Given the description of an element on the screen output the (x, y) to click on. 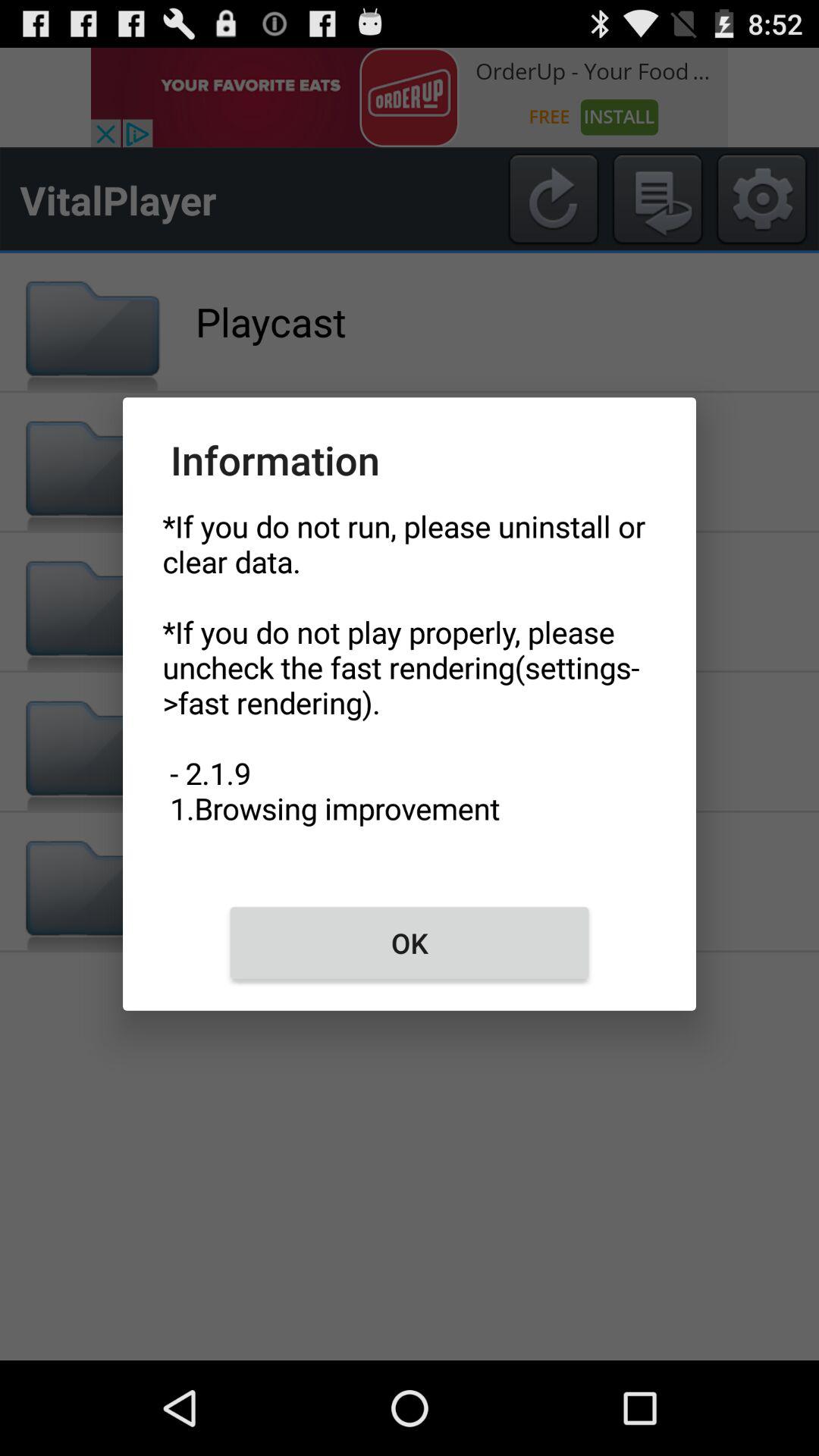
choose the ok icon (409, 942)
